Given the description of an element on the screen output the (x, y) to click on. 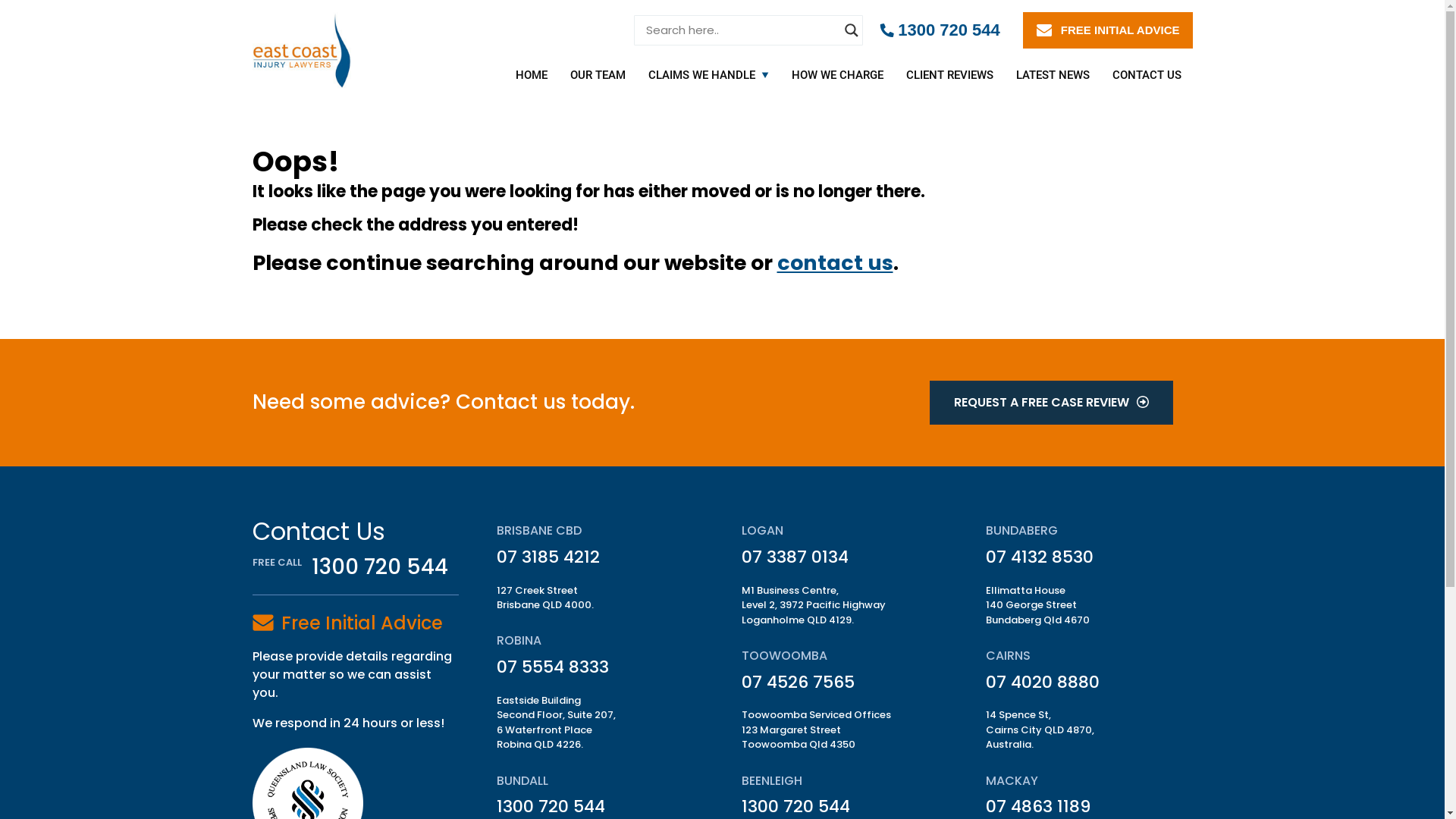
BEENLEIGH Element type: text (771, 780)
CLAIMS WE HANDLE Element type: text (702, 74)
Free Initial Advice Element type: text (361, 622)
LOGAN Element type: text (762, 530)
OUR TEAM Element type: text (597, 74)
07 5554 8333 Element type: text (552, 666)
07 4863 1189 Element type: text (1037, 806)
HOW WE CHARGE Element type: text (836, 74)
CONTACT US Element type: text (1146, 74)
BRISBANE CBD Element type: text (538, 530)
1300 720 544 Element type: text (550, 806)
TOOWOOMBA Element type: text (784, 655)
BUNDABERG Element type: text (1021, 530)
07 3185 4212 Element type: text (547, 556)
BUNDALL Element type: text (522, 780)
1300 720 544 Element type: text (795, 806)
HOME Element type: text (530, 74)
ROBINA Element type: text (518, 640)
CLIENT REVIEWS Element type: text (949, 74)
LATEST NEWS Element type: text (1052, 74)
MACKAY Element type: text (1011, 780)
1300 720 544 Element type: text (379, 566)
FREE INITIAL ADVICE Element type: text (1107, 30)
CAIRNS Element type: text (1007, 655)
1300 720 544 Element type: text (940, 29)
07 4132 8530 Element type: text (1039, 556)
07 3387 0134 Element type: text (794, 556)
07 4020 8880 Element type: text (1042, 681)
07 4526 7565 Element type: text (797, 681)
REQUEST A FREE CASE REVIEW Element type: text (1051, 402)
contact us Element type: text (834, 262)
